Given the description of an element on the screen output the (x, y) to click on. 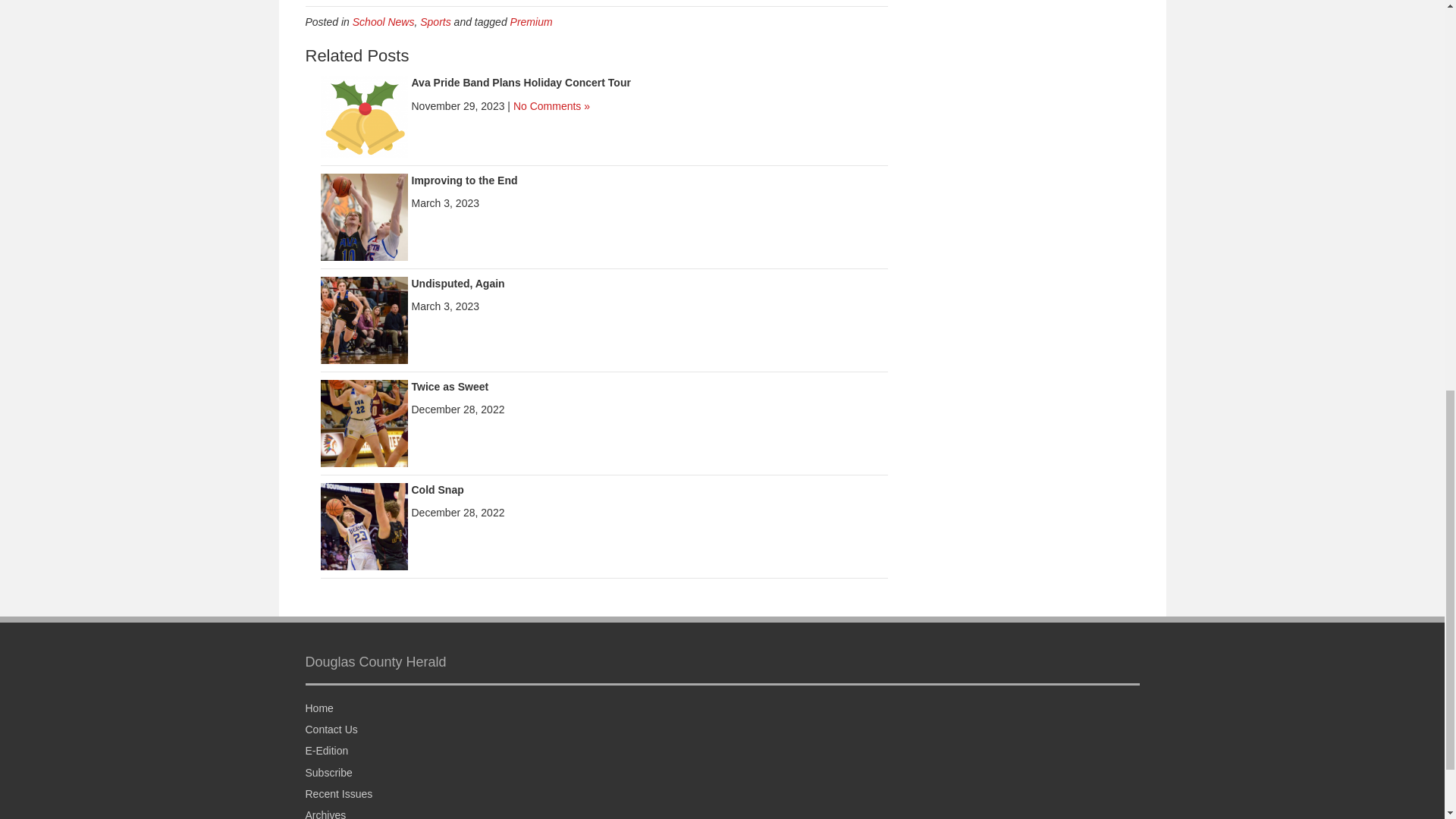
Twice as Sweet (448, 386)
Improving to the End (463, 180)
Improving to the End (463, 180)
Ava Pride Band Plans Holiday Concert Tour (520, 82)
Undisputed, Again (363, 318)
Twice as Sweet (363, 422)
Ava Pride Band Plans Holiday Concert Tour (363, 115)
School News (383, 21)
Cold Snap (436, 490)
Undisputed, Again (456, 283)
